Given the description of an element on the screen output the (x, y) to click on. 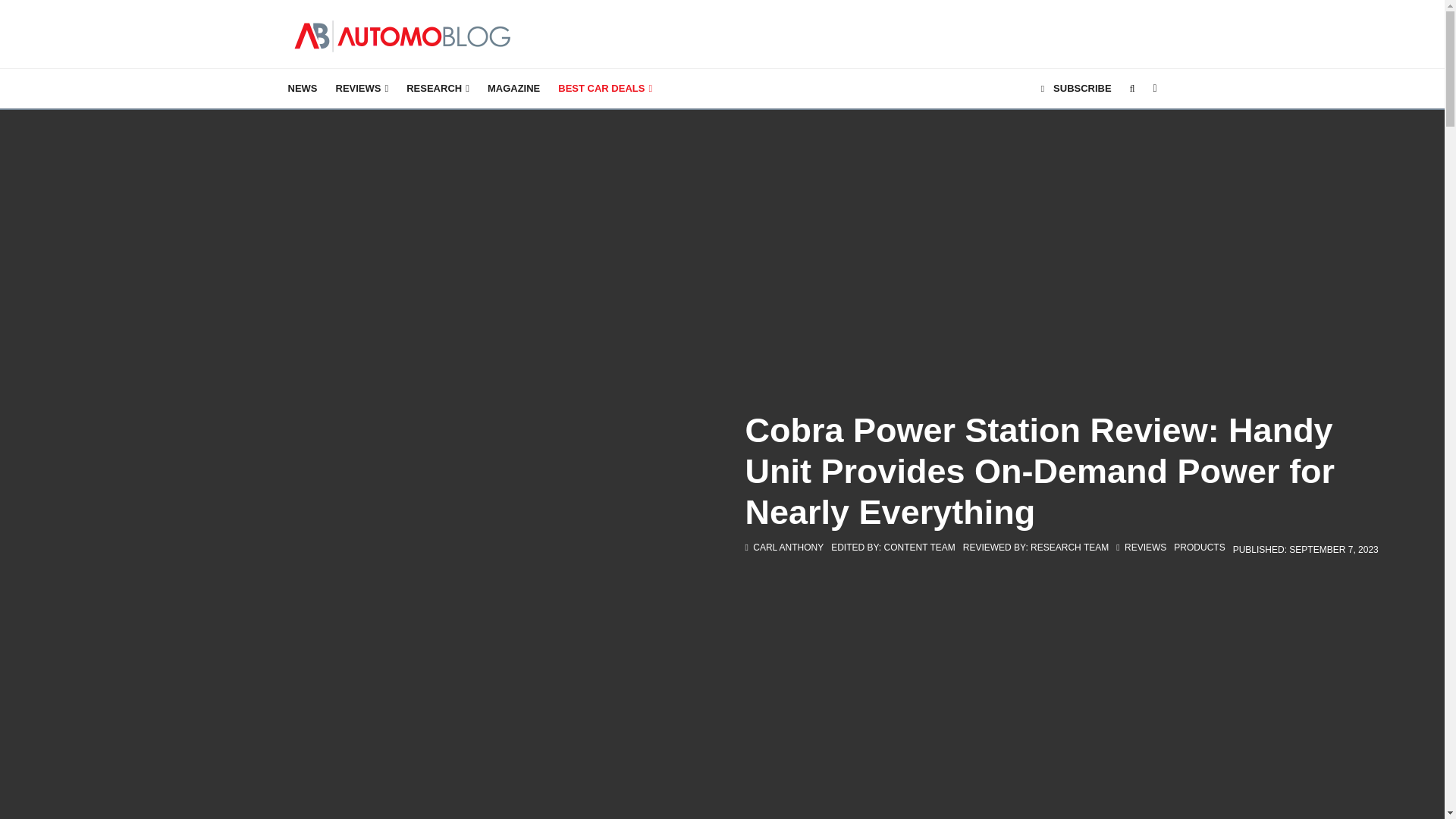
REVIEWS (361, 88)
RESEARCH (438, 88)
NEWS (302, 88)
